Given the description of an element on the screen output the (x, y) to click on. 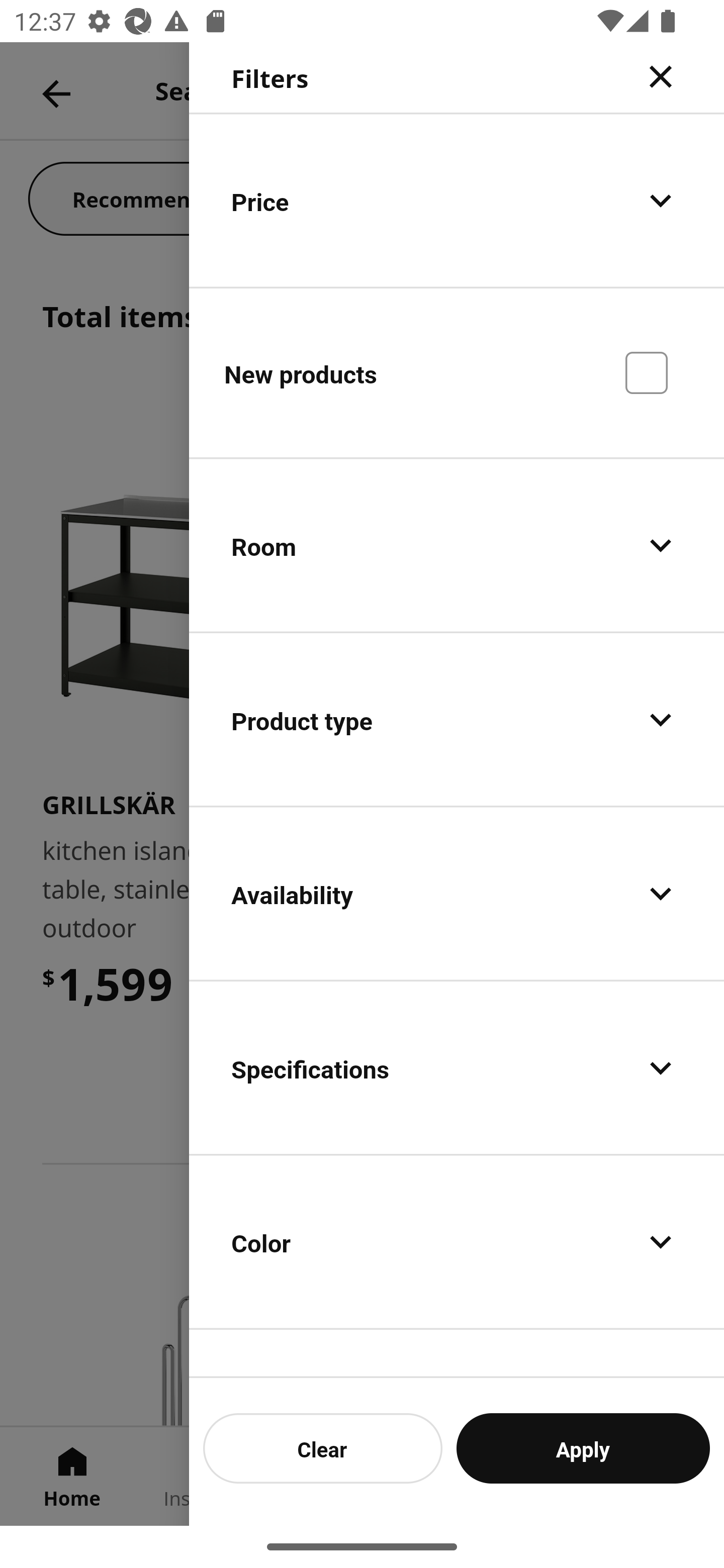
Price (456, 200)
New products (456, 371)
Room (456, 545)
Product type (456, 719)
Availability (456, 893)
Specifications (456, 1067)
Color (456, 1241)
Clear (322, 1447)
Apply (583, 1447)
